Given the description of an element on the screen output the (x, y) to click on. 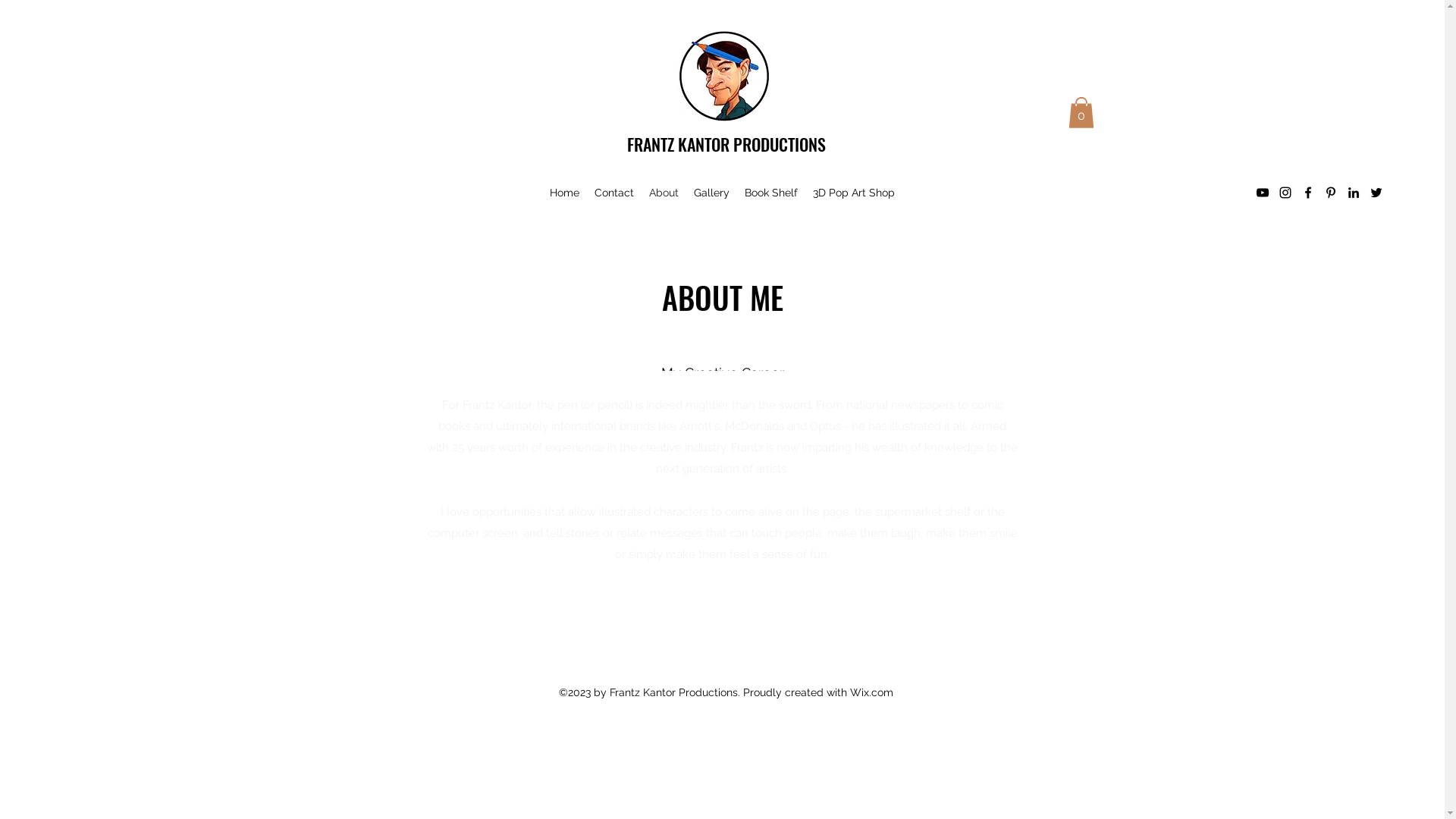
Gallery Element type: text (711, 192)
Book Shelf Element type: text (771, 192)
Contact Element type: text (613, 192)
Home Element type: text (564, 192)
FRANTZ KANTOR PRODUCTIONS Element type: text (726, 143)
3D Pop Art Shop Element type: text (853, 192)
0 Element type: text (1080, 112)
About Element type: text (663, 192)
